Given the description of an element on the screen output the (x, y) to click on. 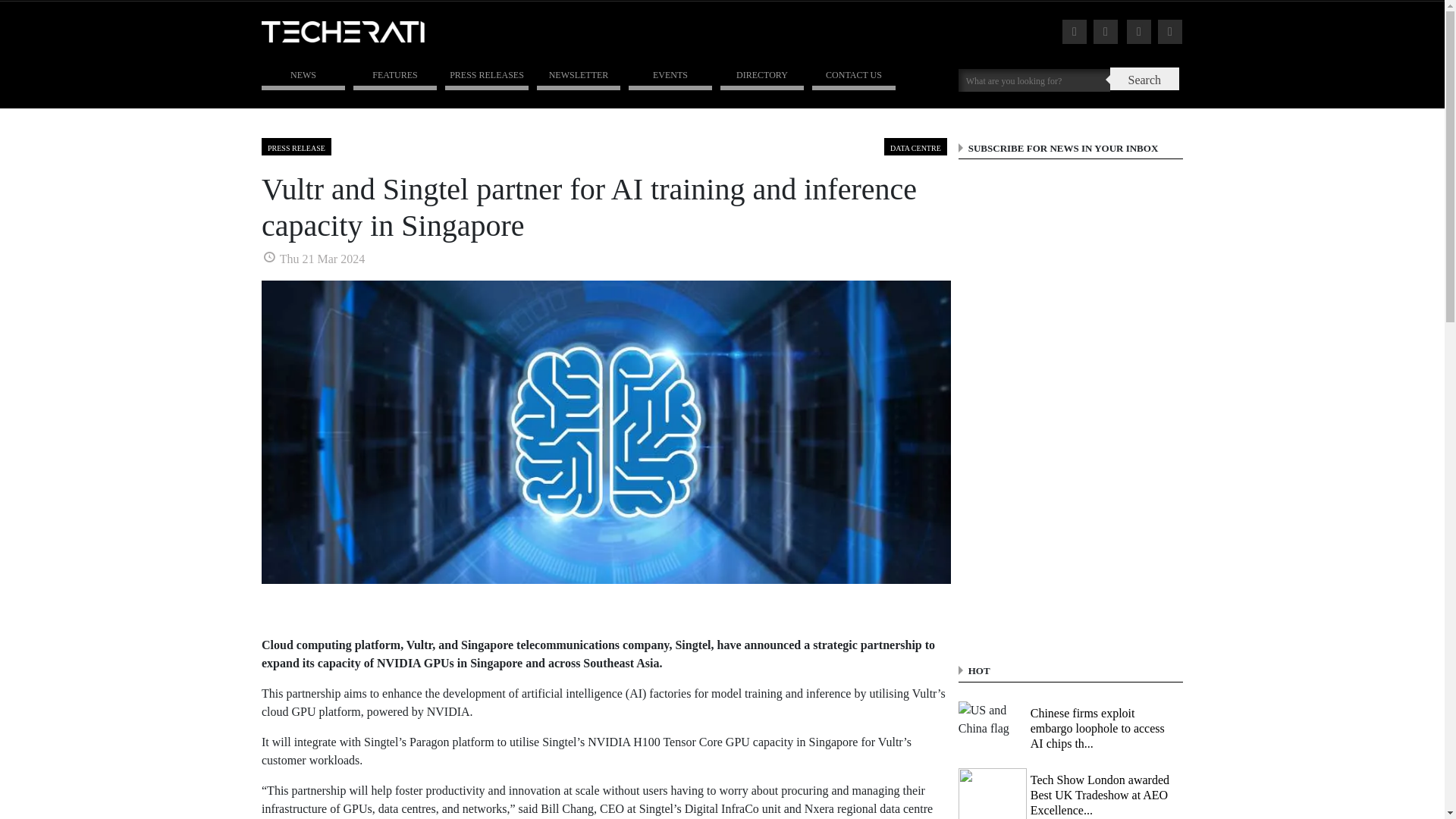
Search (1144, 78)
Search (1144, 78)
Search (1033, 78)
NEWS (303, 76)
